Given the description of an element on the screen output the (x, y) to click on. 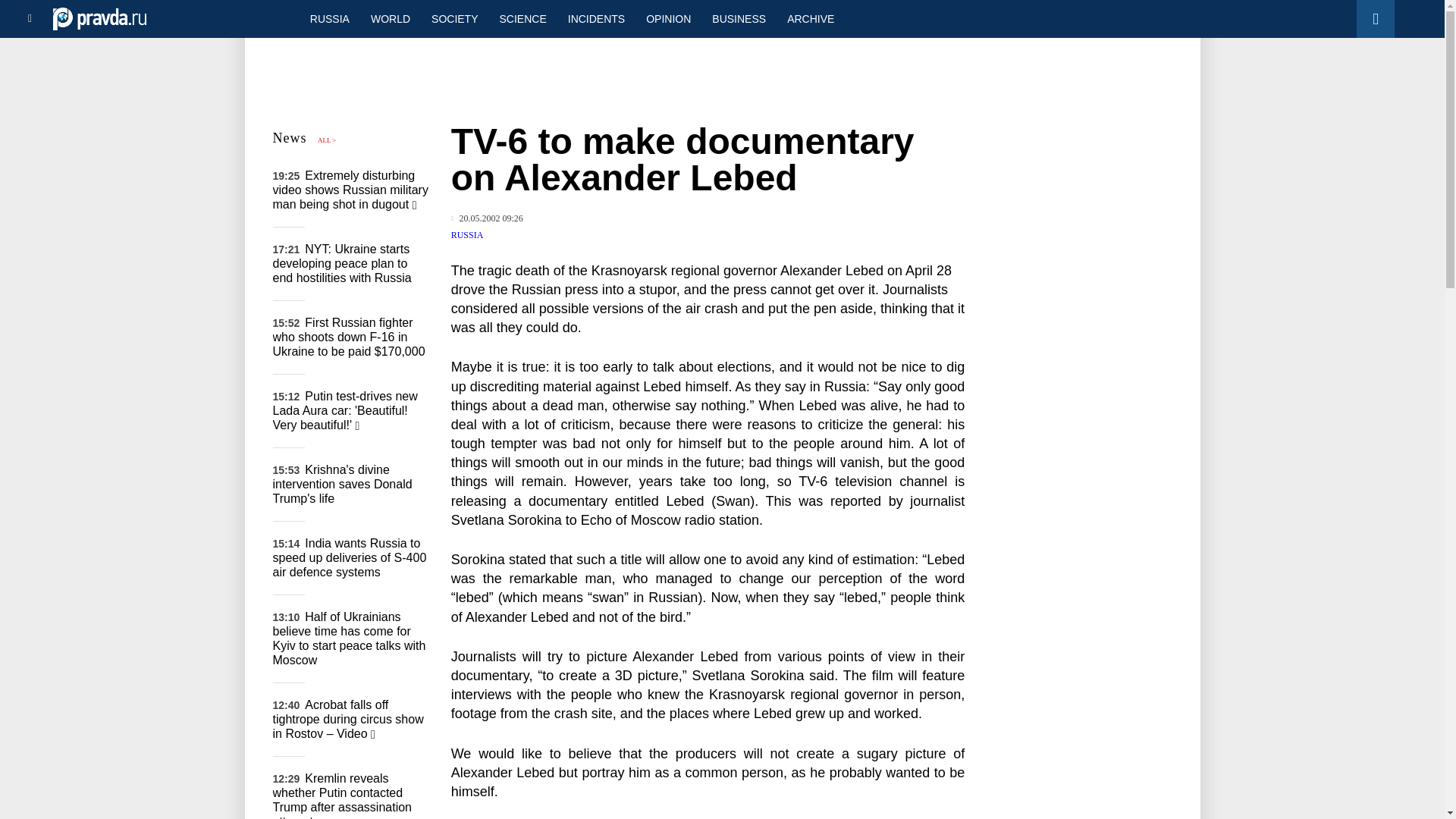
INCIDENTS (595, 18)
Krishna's divine intervention saves Donald Trump's life (342, 484)
ARCHIVE (810, 18)
RUSSIA (329, 18)
Published (486, 218)
SOCIETY (453, 18)
BUSINESS (738, 18)
WORLD (389, 18)
News (290, 137)
